Given the description of an element on the screen output the (x, y) to click on. 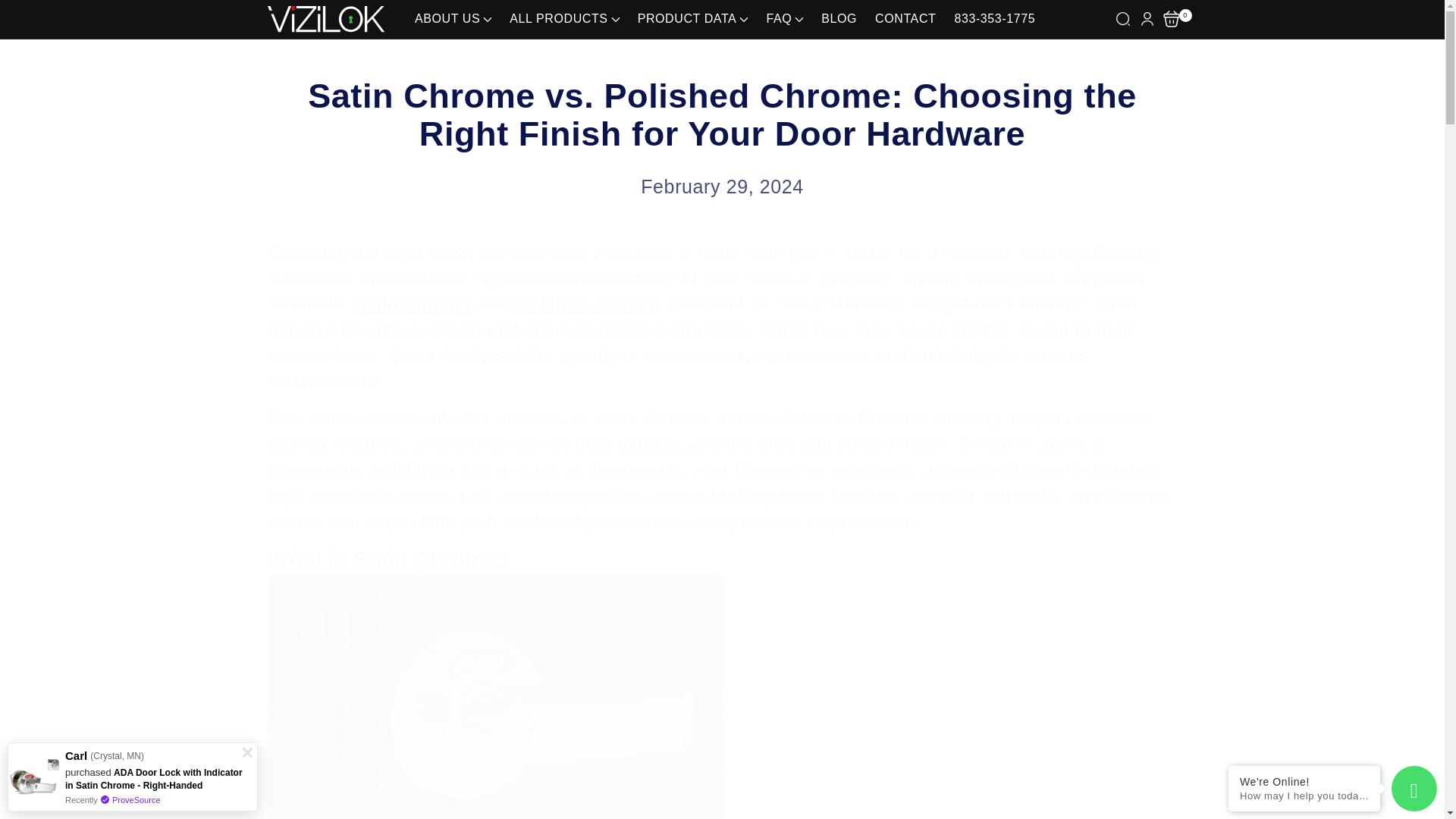
Skip to content (45, 17)
We're Online! (1304, 781)
How may I help you today? (1304, 795)
